Given the description of an element on the screen output the (x, y) to click on. 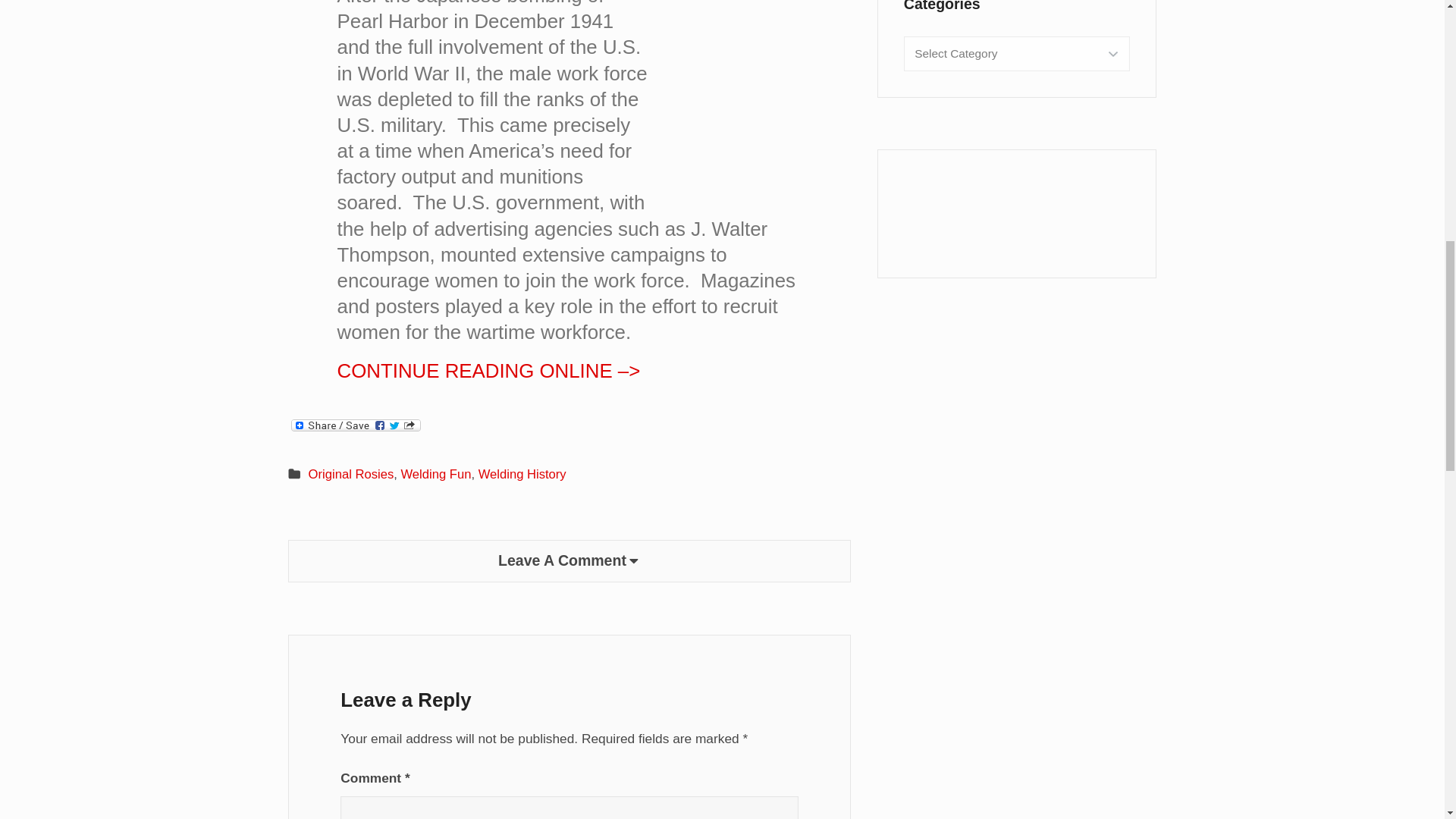
Welding History (522, 473)
Original Rosies (351, 473)
Welding Fun (435, 473)
Leave A Comment (569, 561)
